Given the description of an element on the screen output the (x, y) to click on. 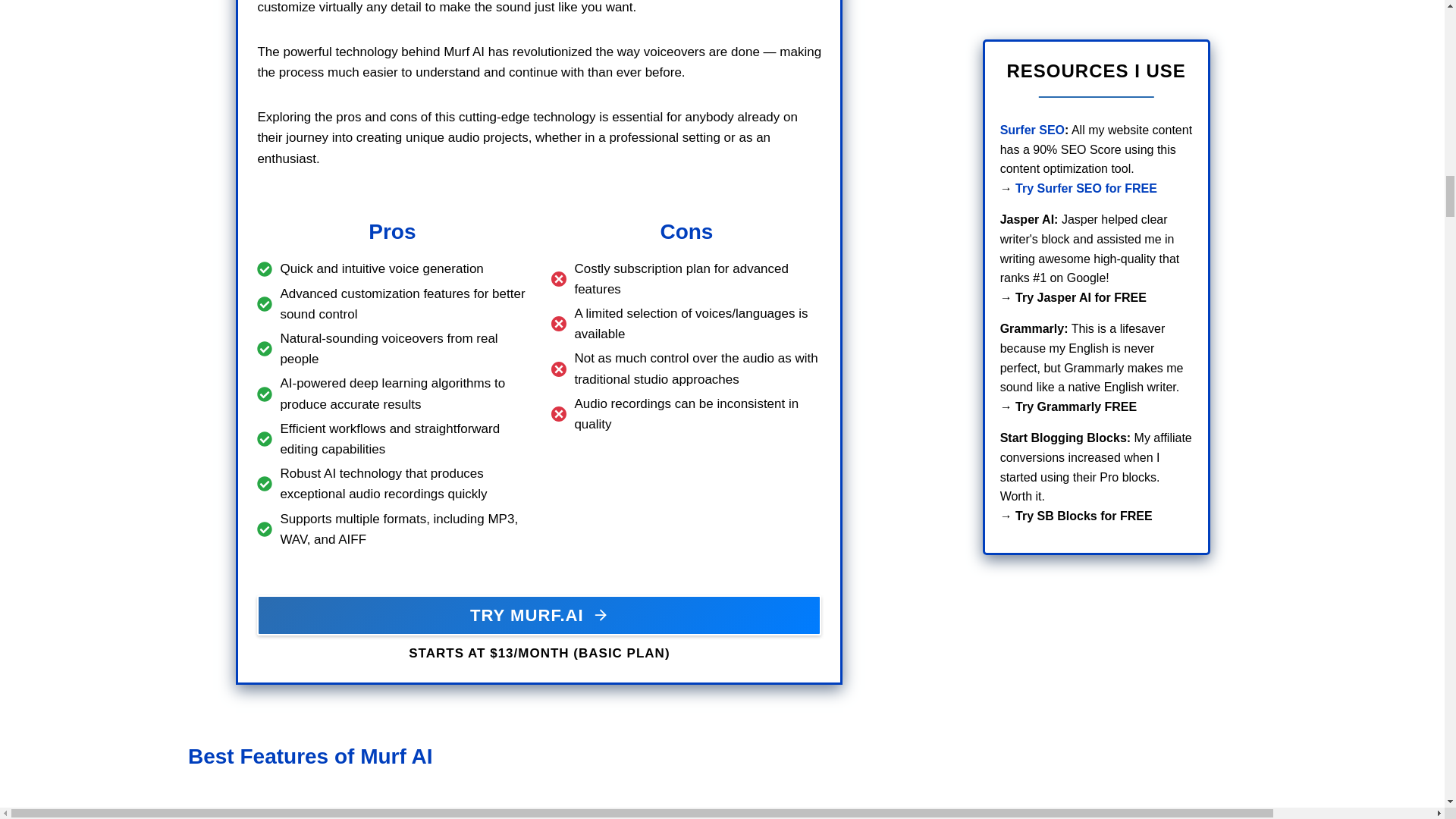
TRY MURF.AI (539, 615)
